Given the description of an element on the screen output the (x, y) to click on. 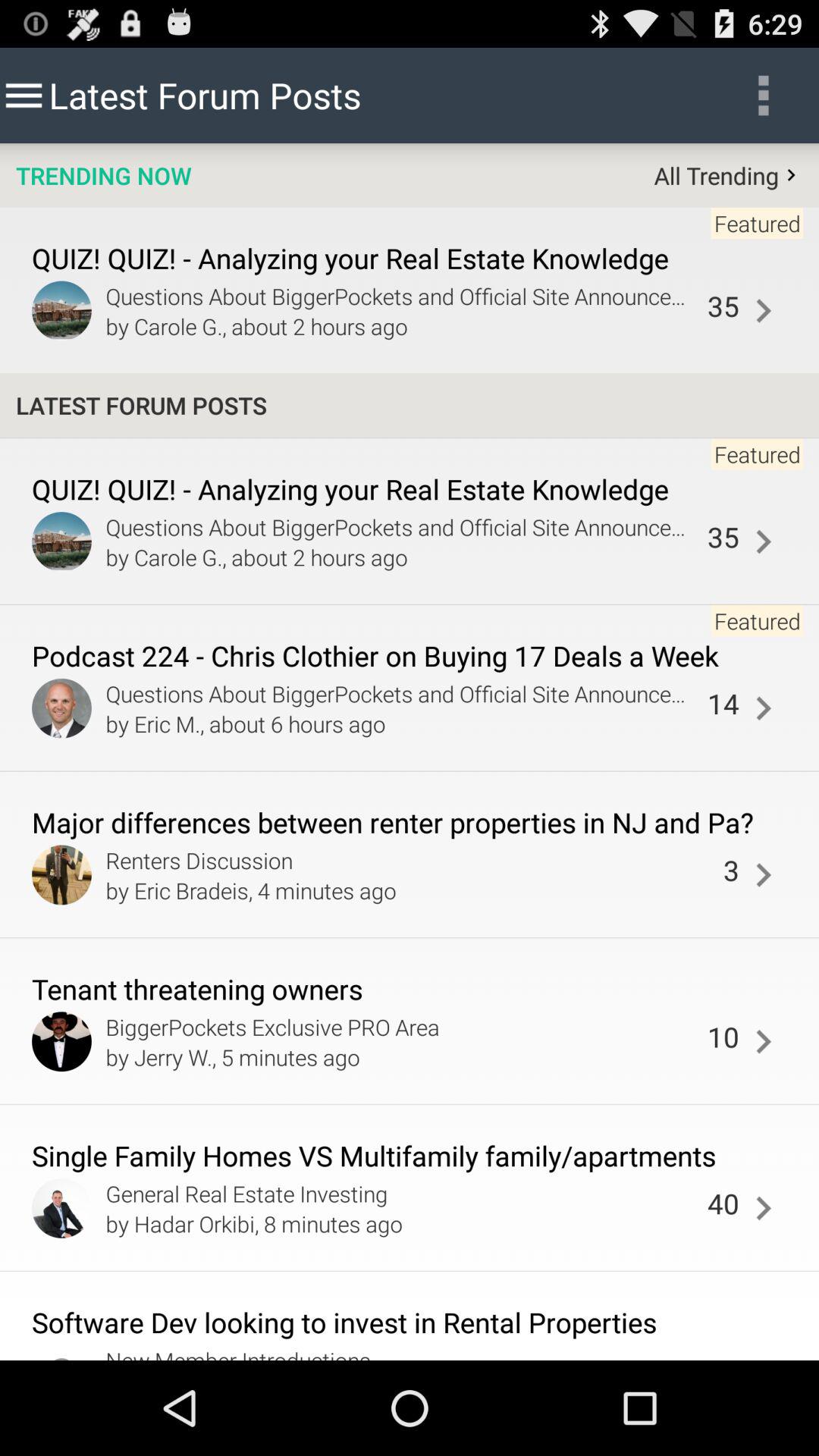
scroll until single family homes icon (409, 1157)
